Given the description of an element on the screen output the (x, y) to click on. 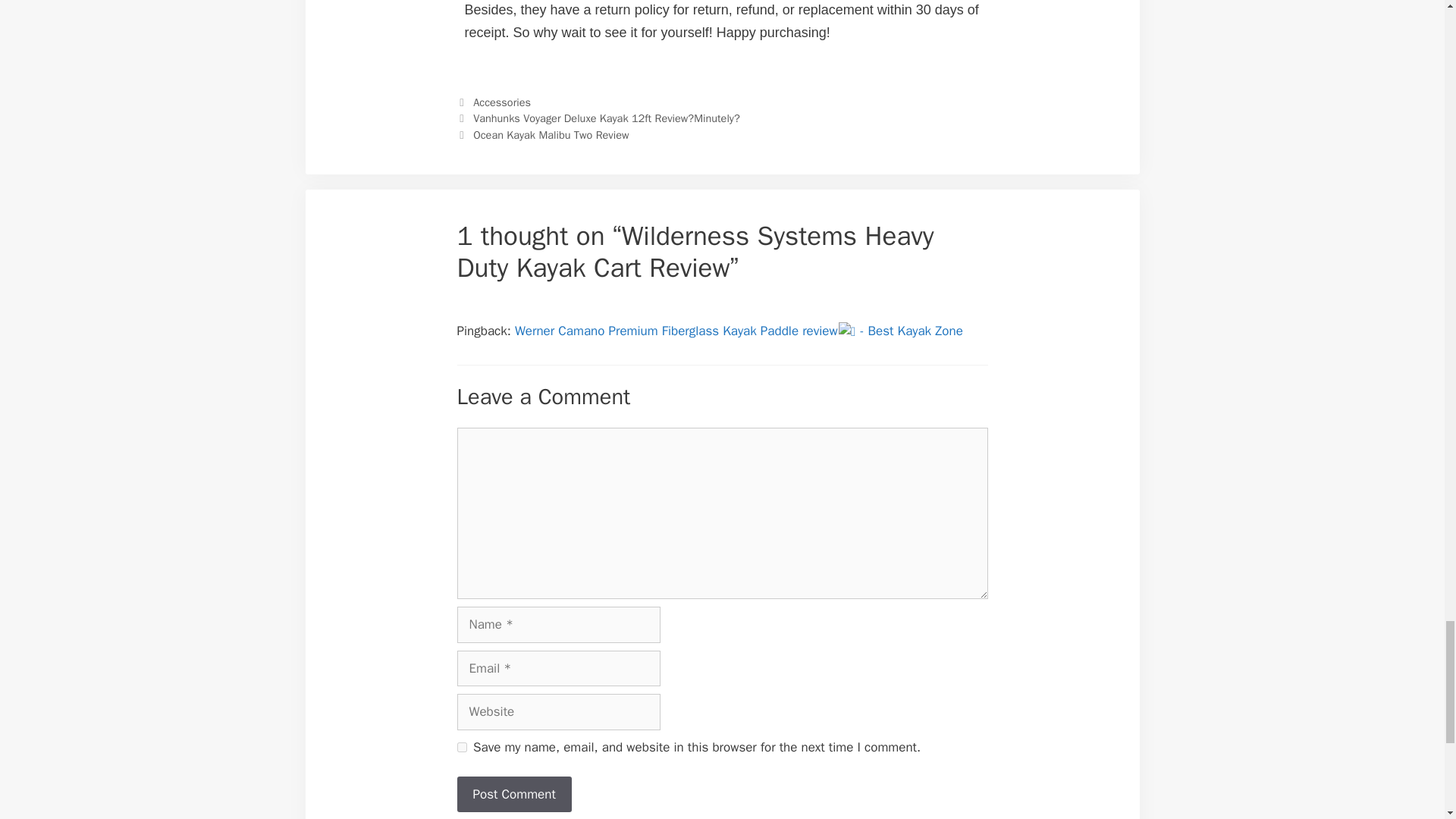
yes (461, 747)
Post Comment (513, 794)
Ocean Kayak Malibu Two Review (550, 134)
Vanhunks Voyager Deluxe Kayak 12ft Review?Minutely? (606, 118)
Accessories (502, 101)
Post Comment (513, 794)
